Given the description of an element on the screen output the (x, y) to click on. 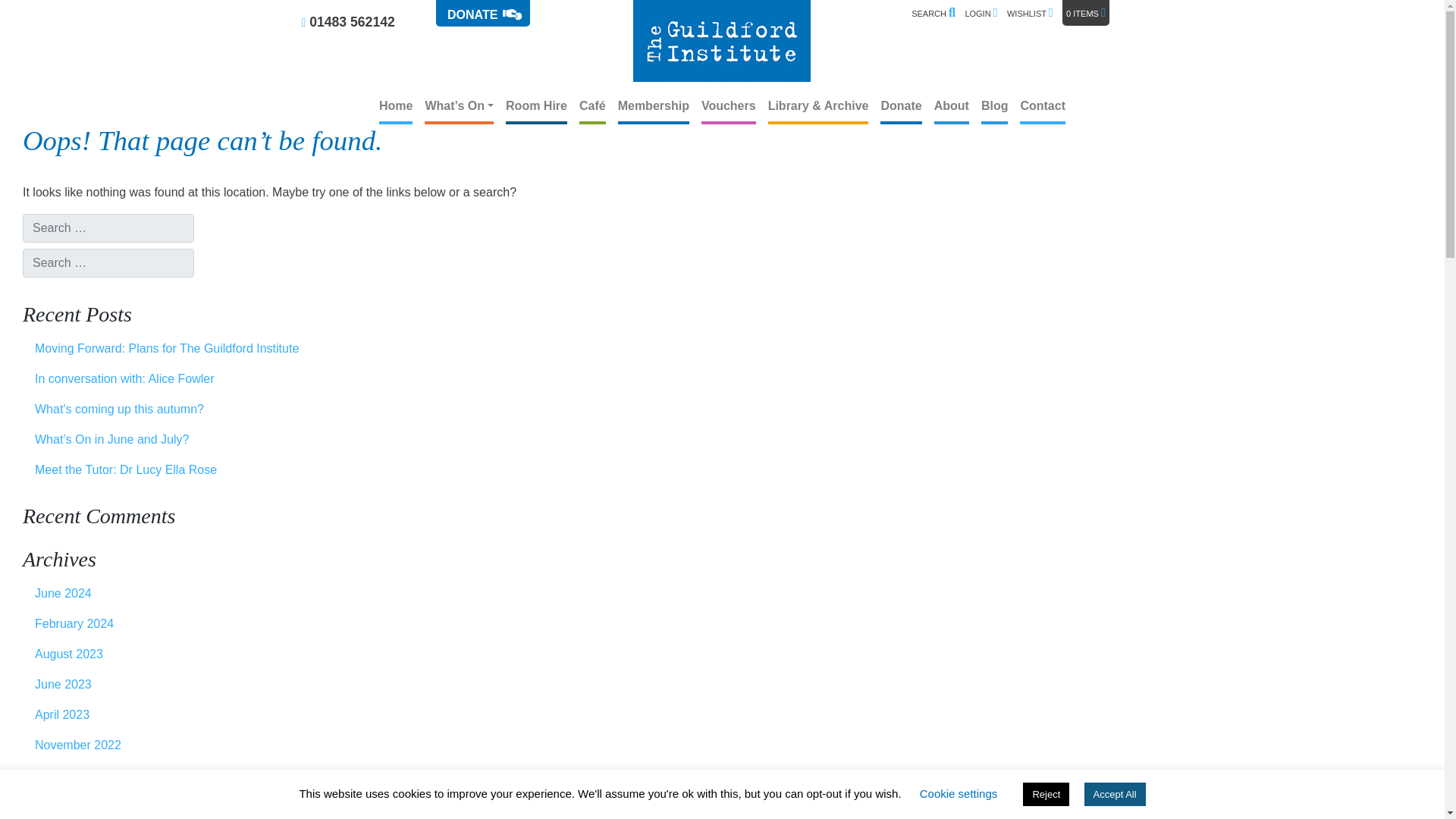
August 2023 (248, 654)
February 2024 (248, 624)
Search (35, 14)
About (951, 107)
LOGIN (980, 13)
Membership (652, 107)
Room Hire (536, 107)
Home (395, 107)
Search for: (937, 18)
What's On (459, 107)
Vouchers (728, 107)
SEARCH (933, 13)
November 2022 (248, 745)
Dontate now button (482, 13)
Vouchers (728, 107)
